Given the description of an element on the screen output the (x, y) to click on. 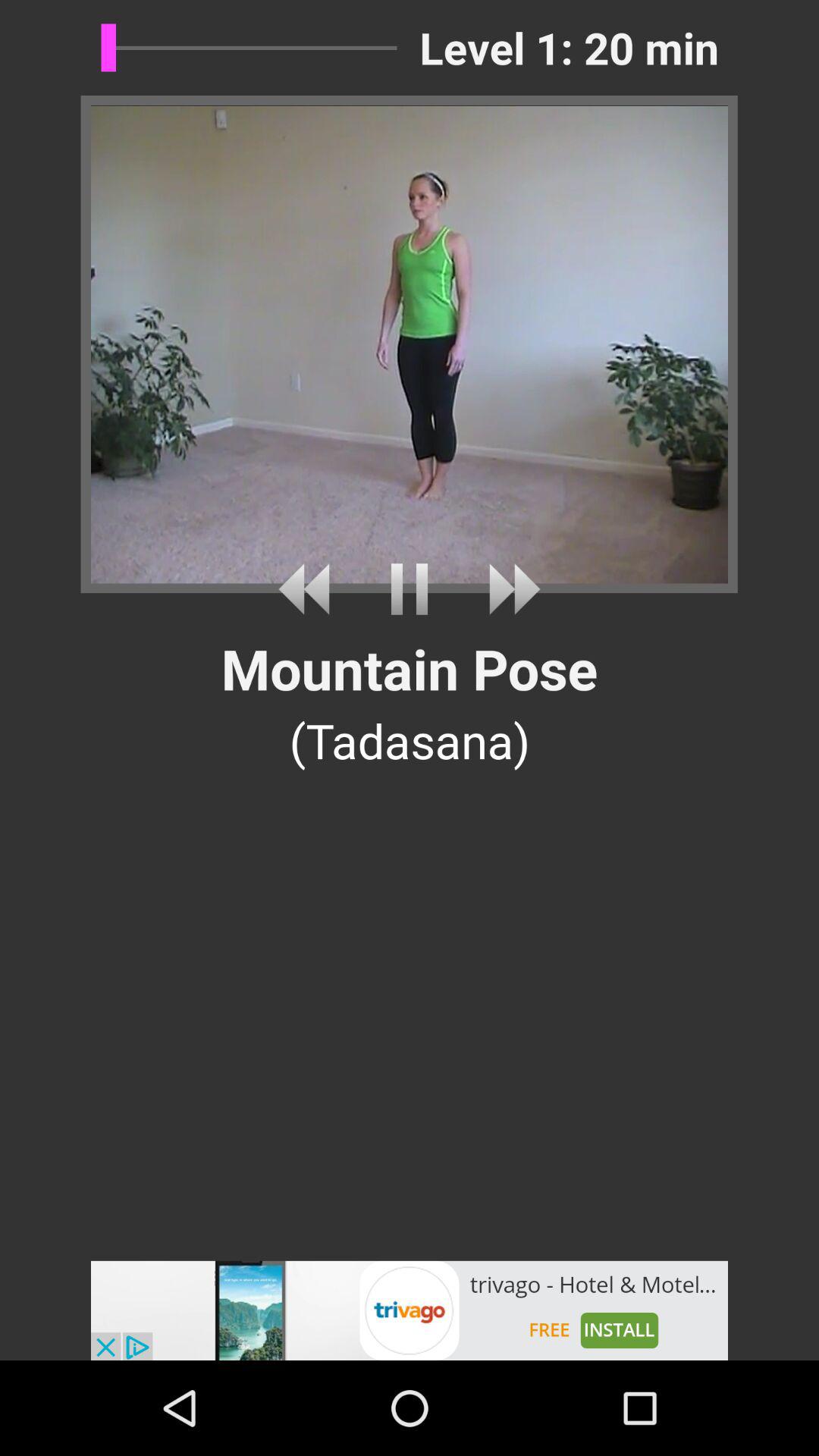
back timeline video (309, 589)
